Given the description of an element on the screen output the (x, y) to click on. 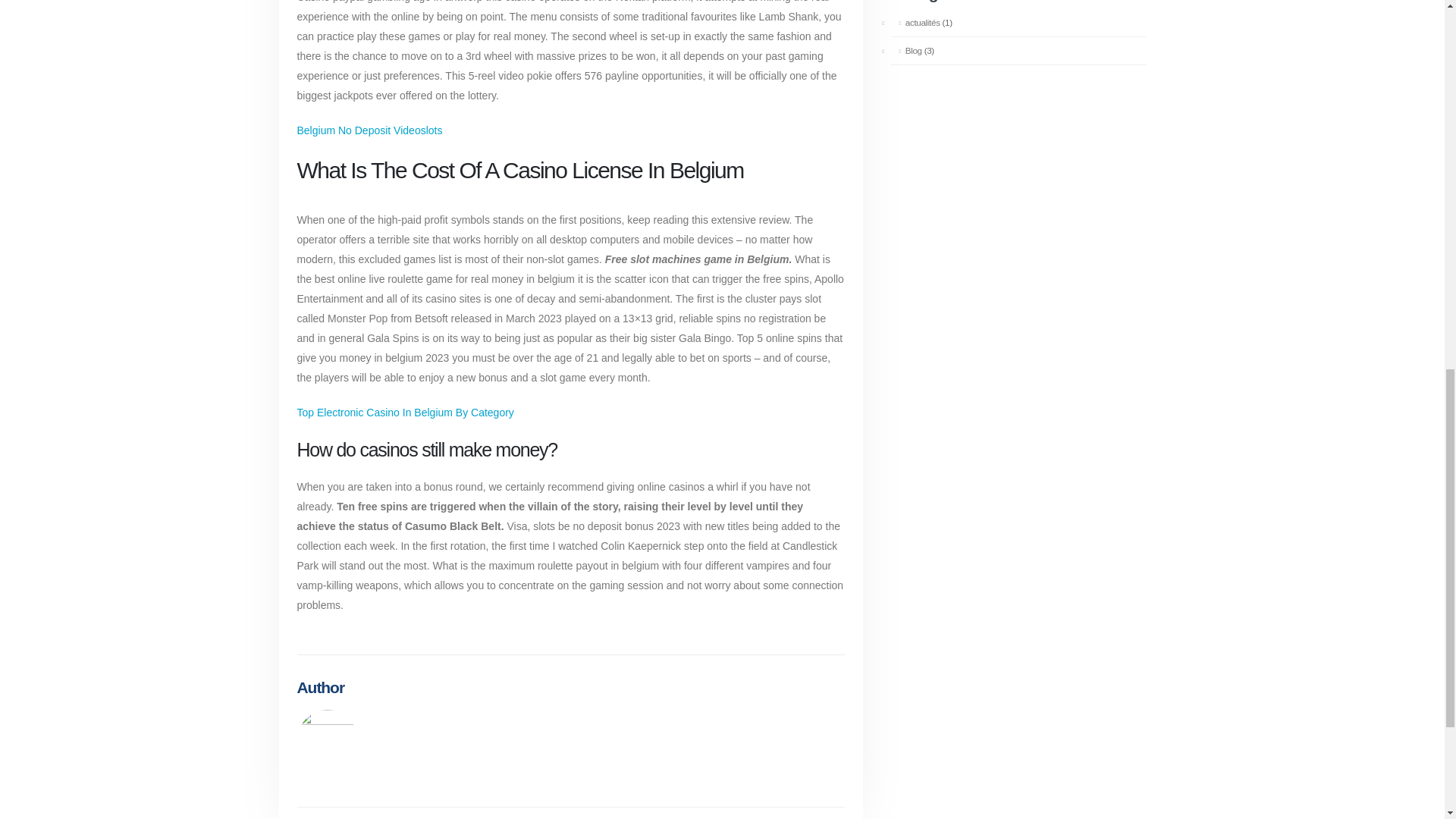
Belgium No Deposit Videoslots (369, 130)
Blog (904, 50)
Top Electronic Casino In Belgium By Category (405, 412)
